Given the description of an element on the screen output the (x, y) to click on. 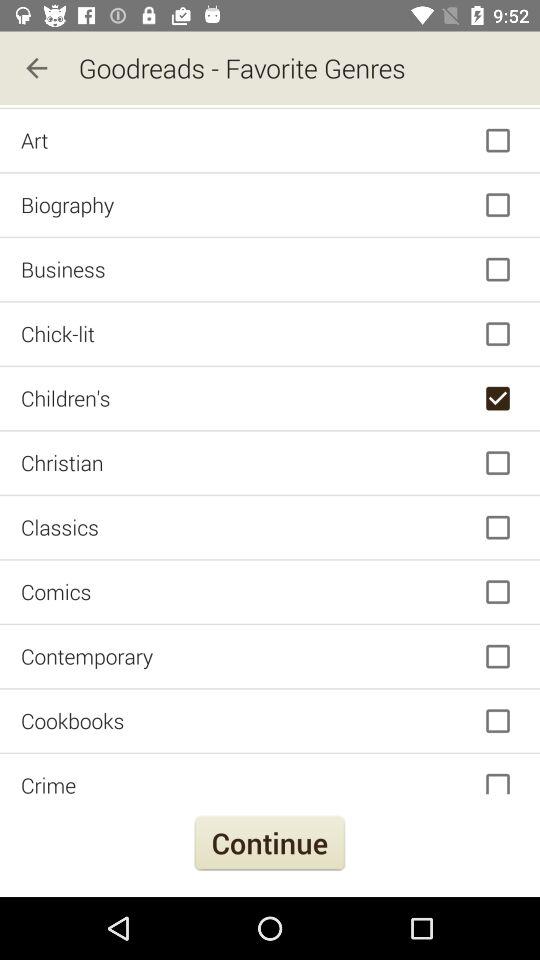
click item above crime icon (270, 720)
